Given the description of an element on the screen output the (x, y) to click on. 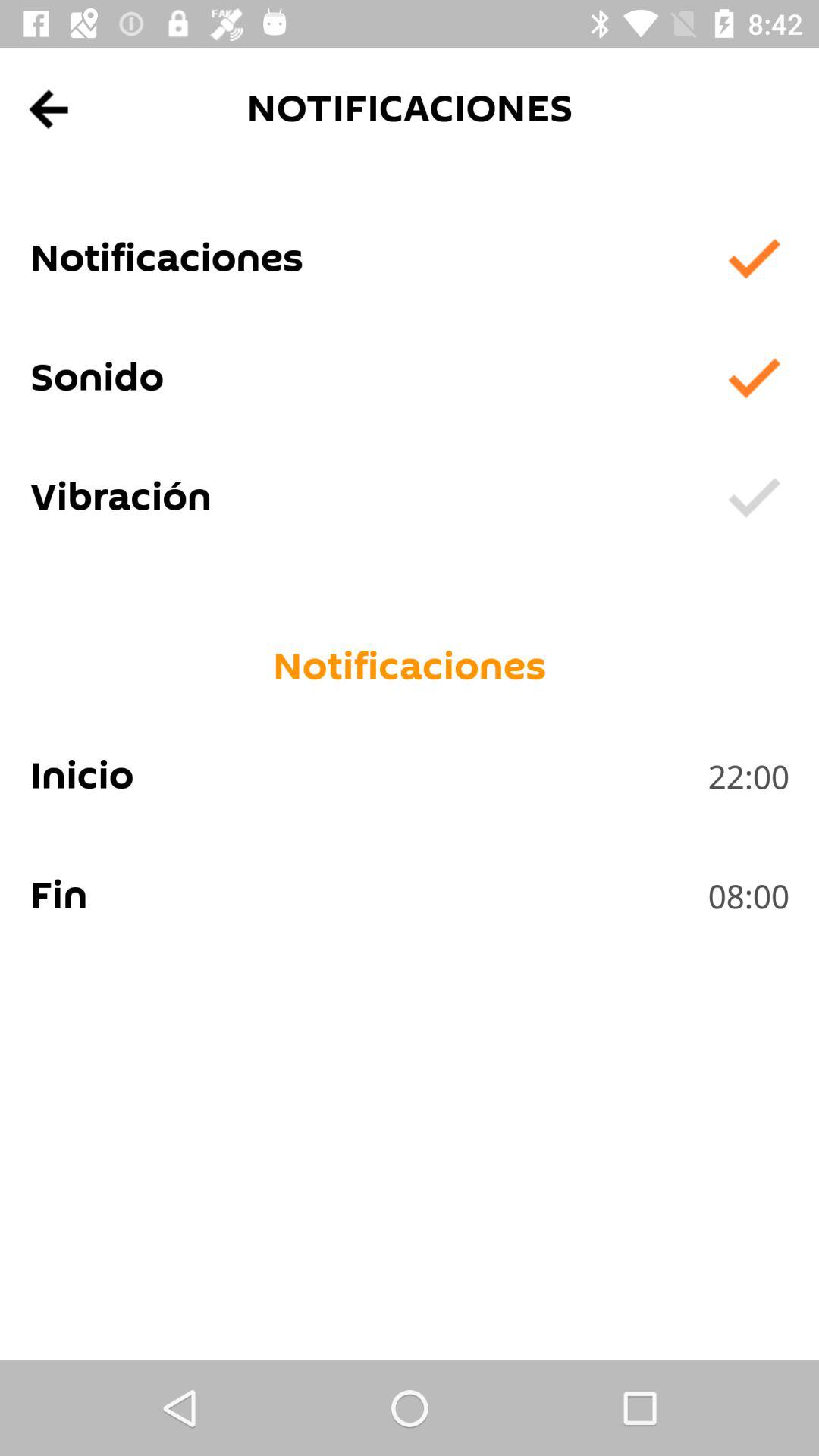
turn on app above the notificaciones app (49, 109)
